Given the description of an element on the screen output the (x, y) to click on. 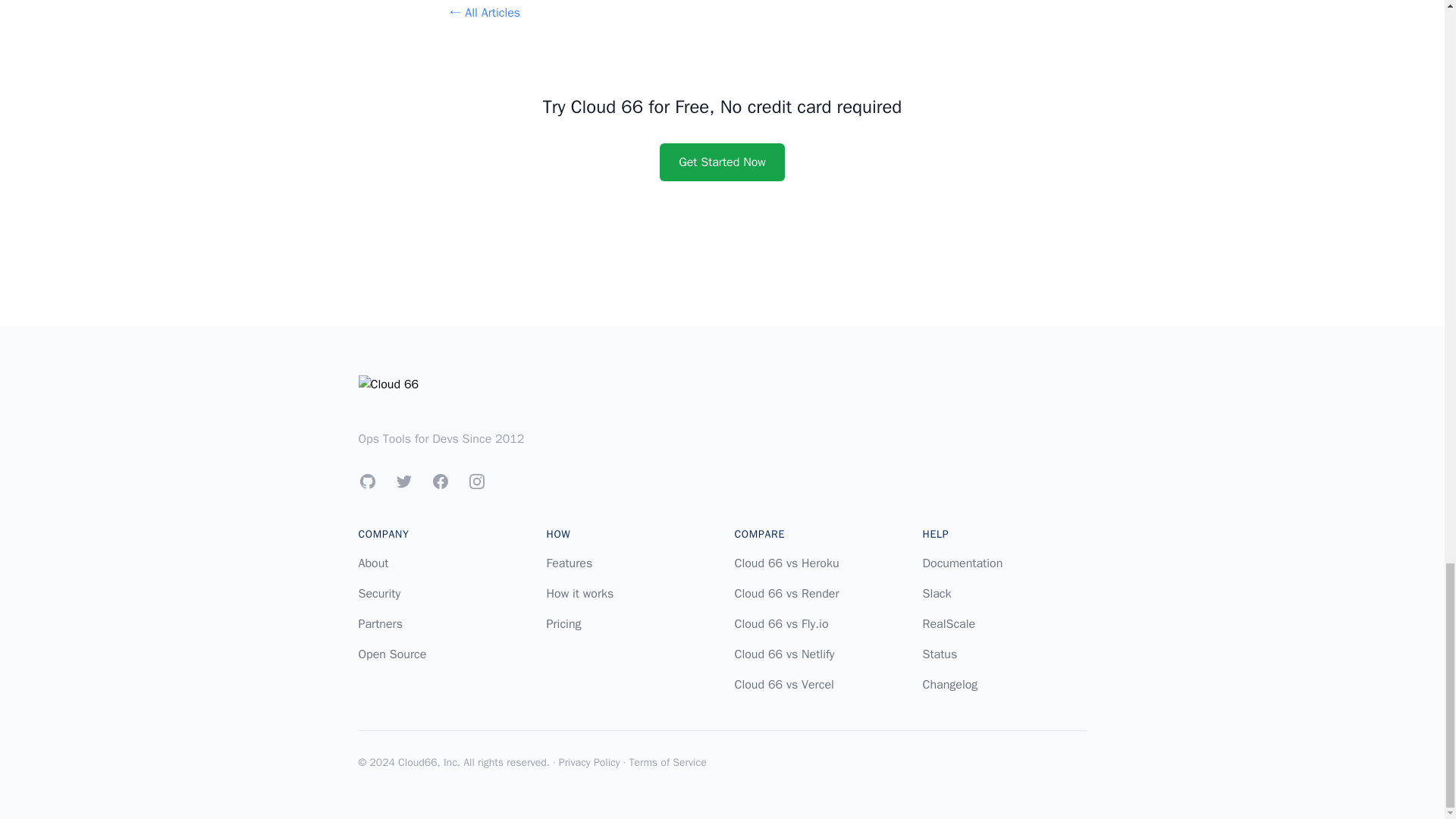
RealScale (948, 623)
Open Source (392, 654)
About (373, 563)
Cloud 66 vs Heroku (785, 563)
GitHub (366, 481)
Pricing (563, 623)
Features (569, 563)
Security (379, 593)
How it works (579, 593)
Documentation (962, 563)
Partners (379, 623)
Twitter (403, 481)
Cloud 66 vs Netlify (783, 654)
Get Started Now (721, 161)
Cloud 66 vs Fly.io (780, 623)
